Given the description of an element on the screen output the (x, y) to click on. 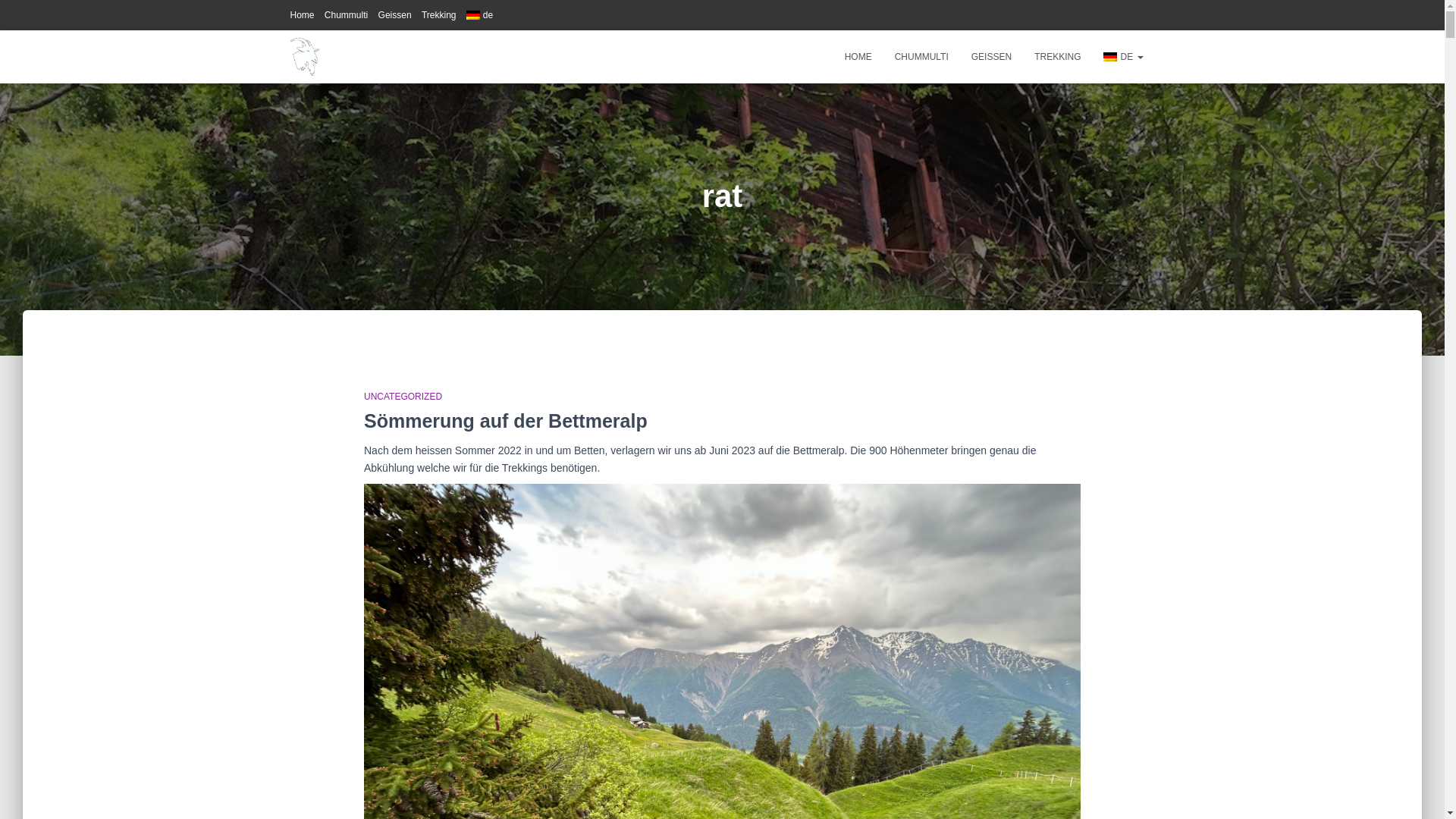
CHUMMULTI Element type: text (921, 56)
GEISSEN Element type: text (991, 56)
Home Element type: text (301, 15)
TREKKING Element type: text (1057, 56)
Geissen Element type: text (394, 15)
Trekking Element type: text (438, 15)
DE Element type: text (1123, 56)
de Element type: text (479, 15)
UNCATEGORIZED Element type: text (403, 396)
HOME Element type: text (858, 56)
Chummulti Element type: text (345, 15)
